Given the description of an element on the screen output the (x, y) to click on. 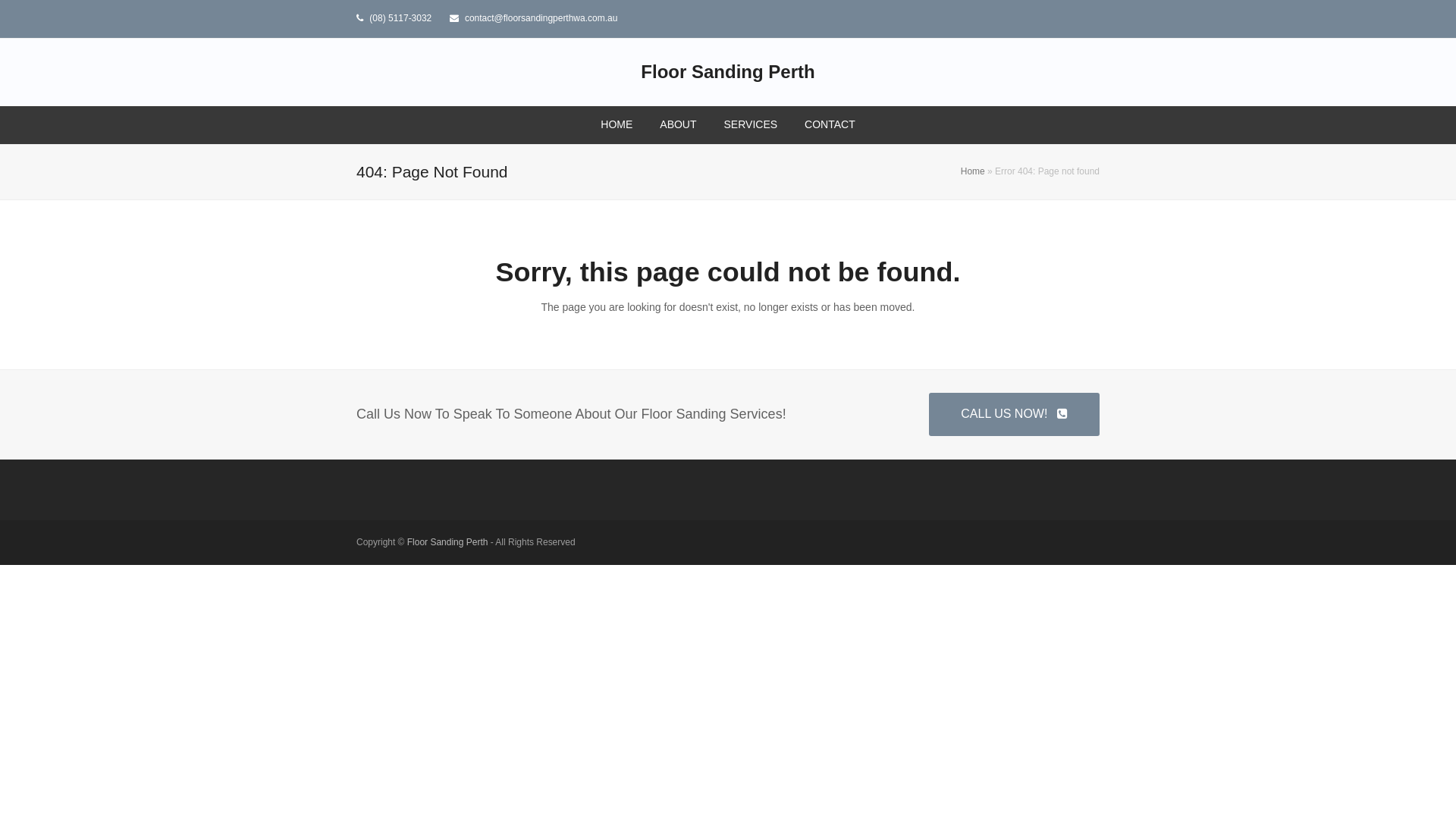
Floor Sanding Perth Element type: text (727, 71)
HOME Element type: text (616, 125)
CONTACT Element type: text (829, 125)
CALL US NOW! Element type: text (1013, 413)
Floor Sanding Perth Element type: text (447, 541)
ABOUT Element type: text (678, 125)
Home Element type: text (972, 171)
SERVICES Element type: text (750, 125)
